Given the description of an element on the screen output the (x, y) to click on. 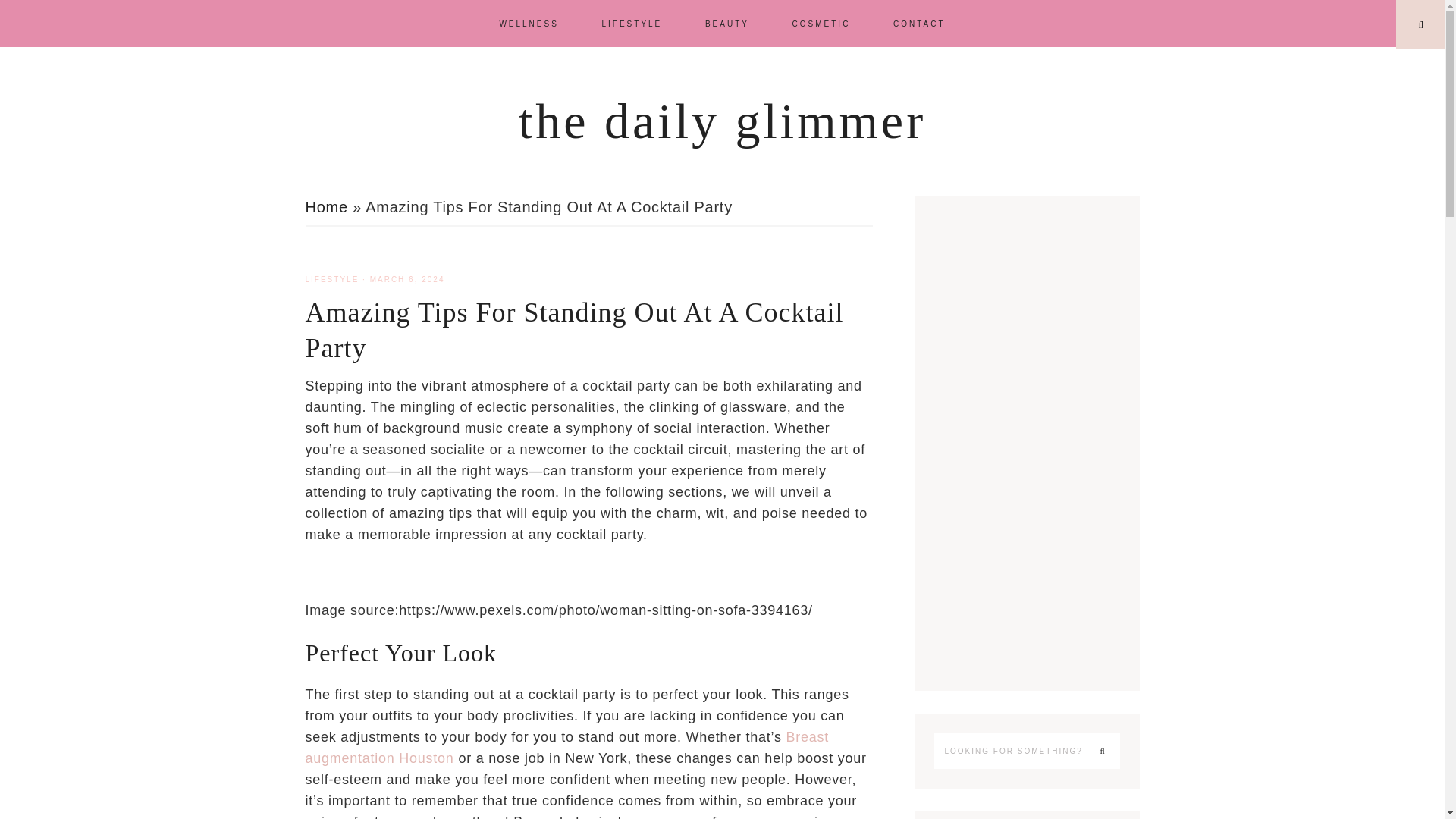
COSMETIC (821, 22)
WELLNESS (528, 22)
BEAUTY (726, 22)
CONTACT (919, 22)
Breast augmentation Houston (566, 747)
LIFESTYLE (331, 279)
LIFESTYLE (630, 22)
the daily glimmer (722, 120)
Home (325, 207)
